Given the description of an element on the screen output the (x, y) to click on. 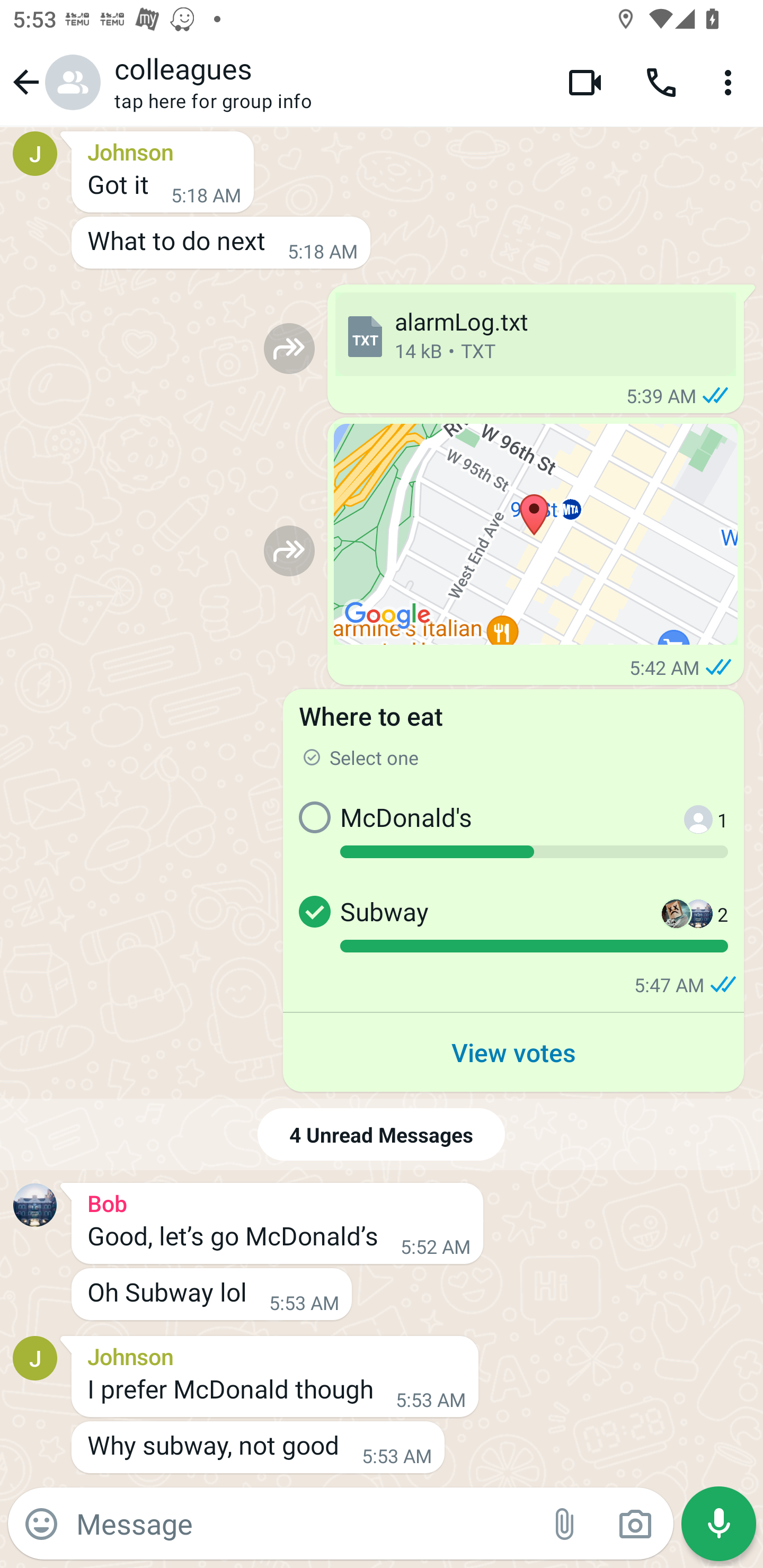
colleagues tap here for group info (327, 82)
Navigate up (54, 82)
Video call (585, 81)
Voice call (661, 81)
More options (731, 81)
Profile picture for Johnson J (34, 153)
Johnson (162, 148)
alarmLog.txt 14 kB • TXT (535, 333)
Forward to… (288, 348)
Location (535, 533)
Forward to… (288, 551)
Johnson 1 (689, 831)
You Bob 2 (687, 925)
View votes (513, 1051)
Profile picture for Bob (34, 1204)
Bob (276, 1200)
Profile picture for Johnson J (34, 1357)
Johnson (274, 1353)
Emoji (41, 1523)
Attach (565, 1523)
Camera (634, 1523)
Message (303, 1523)
